Given the description of an element on the screen output the (x, y) to click on. 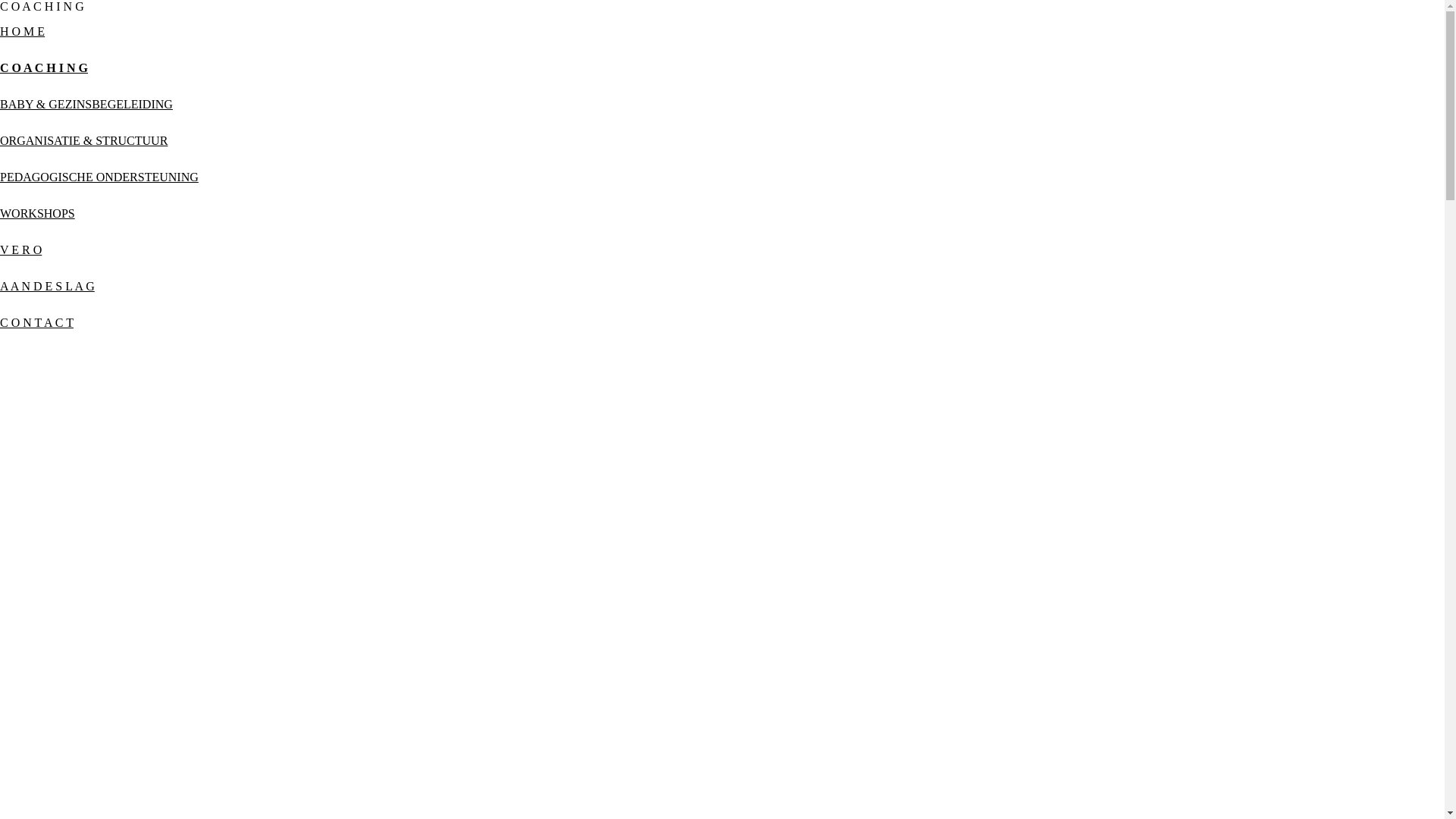
V E R O Element type: text (20, 249)
WORKSHOPS Element type: text (37, 213)
A A N D E S L A G Element type: text (47, 285)
C O A C H I N G Element type: text (43, 67)
BABY & GEZINSBEGELEIDING Element type: text (86, 103)
ORGANISATIE & STRUCTUUR Element type: text (83, 140)
C O N T A C T Element type: text (36, 322)
PEDAGOGISCHE ONDERSTEUNING Element type: text (99, 176)
H O M E Element type: text (22, 31)
